Given the description of an element on the screen output the (x, y) to click on. 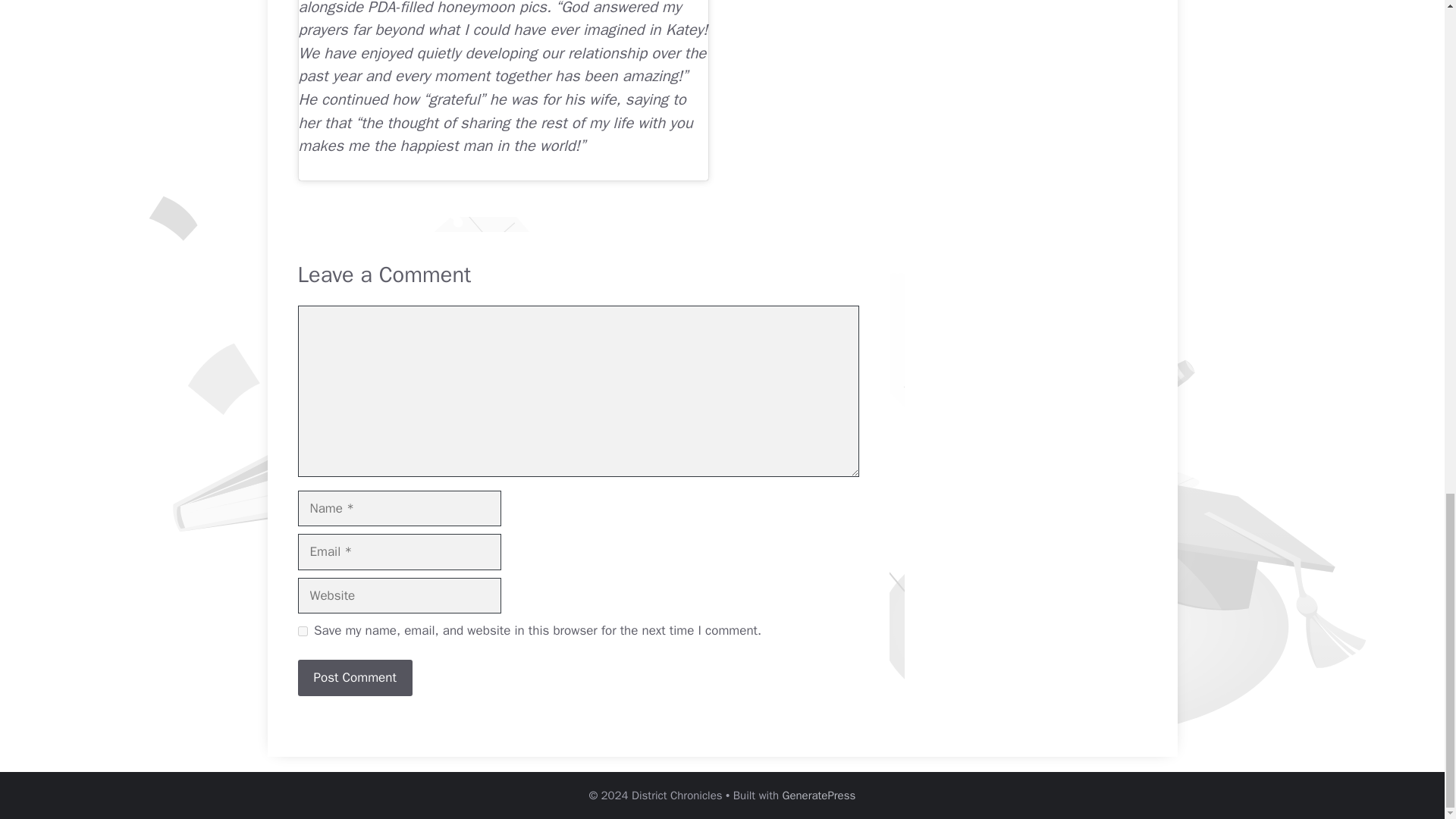
Post Comment (354, 678)
Scroll back to top (1406, 282)
yes (302, 631)
Post Comment (354, 678)
GeneratePress (819, 795)
